Given the description of an element on the screen output the (x, y) to click on. 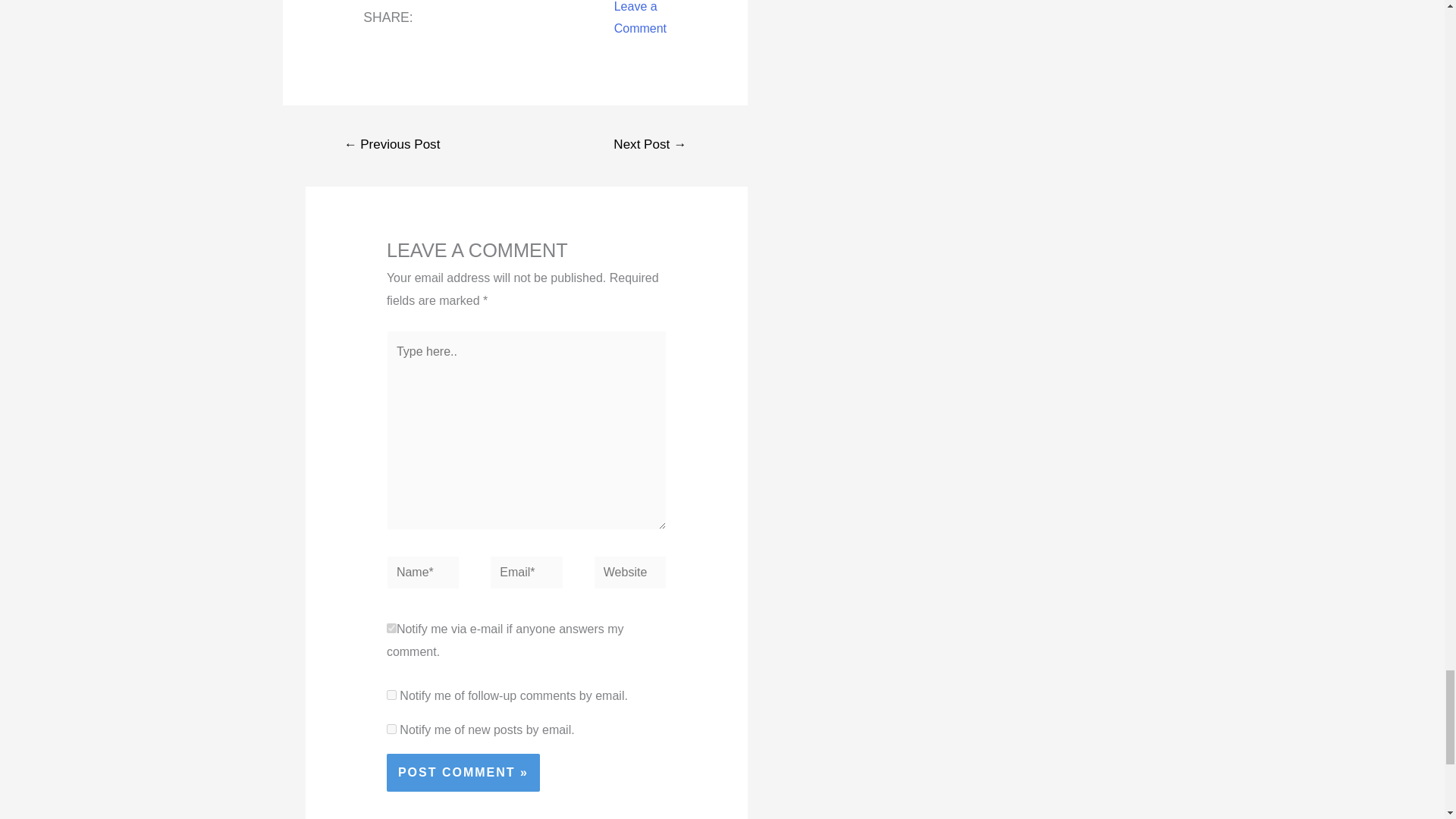
subscribe (391, 695)
subscribe (391, 728)
on (391, 628)
